Given the description of an element on the screen output the (x, y) to click on. 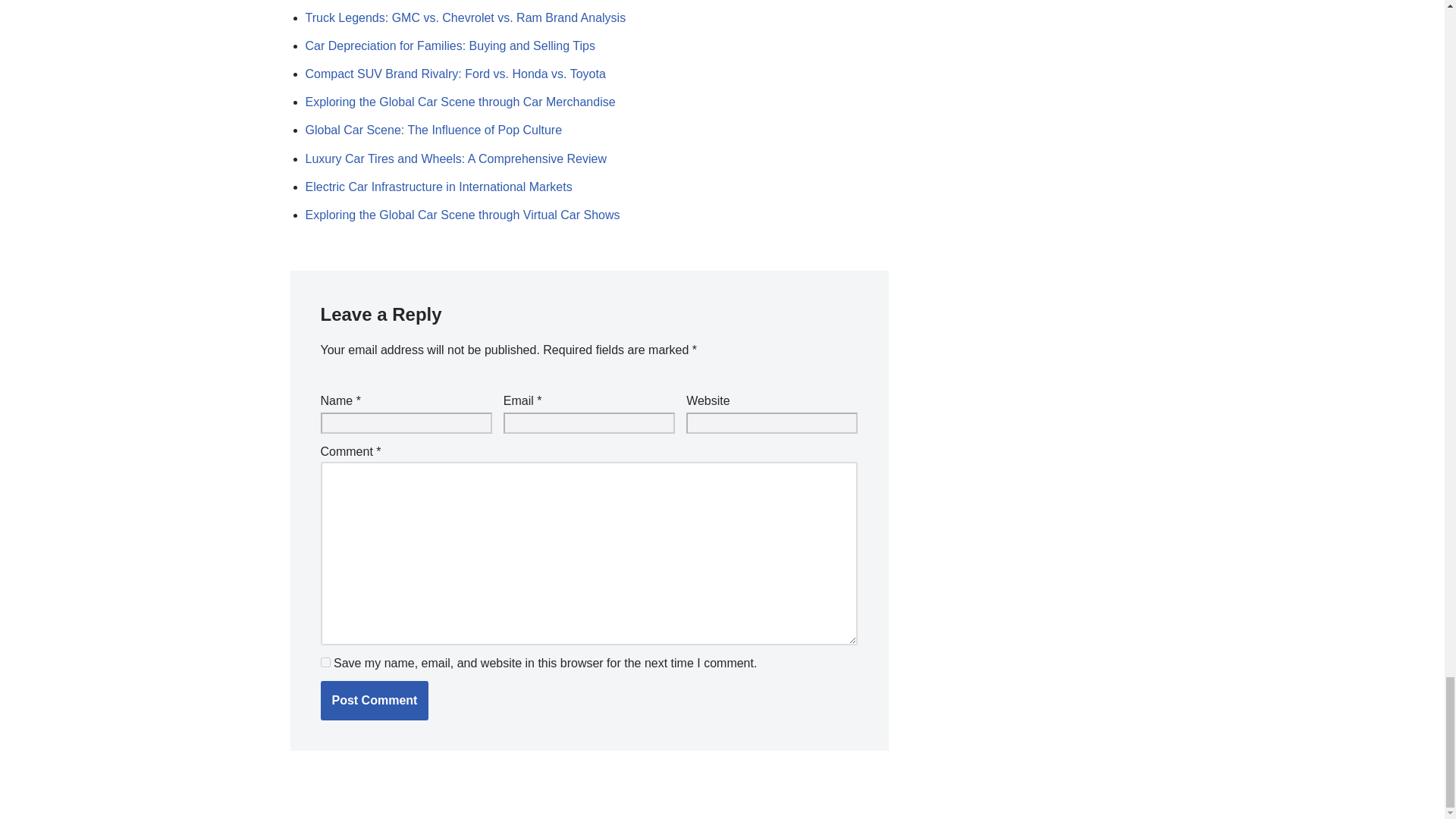
Post Comment (374, 700)
yes (325, 662)
